Given the description of an element on the screen output the (x, y) to click on. 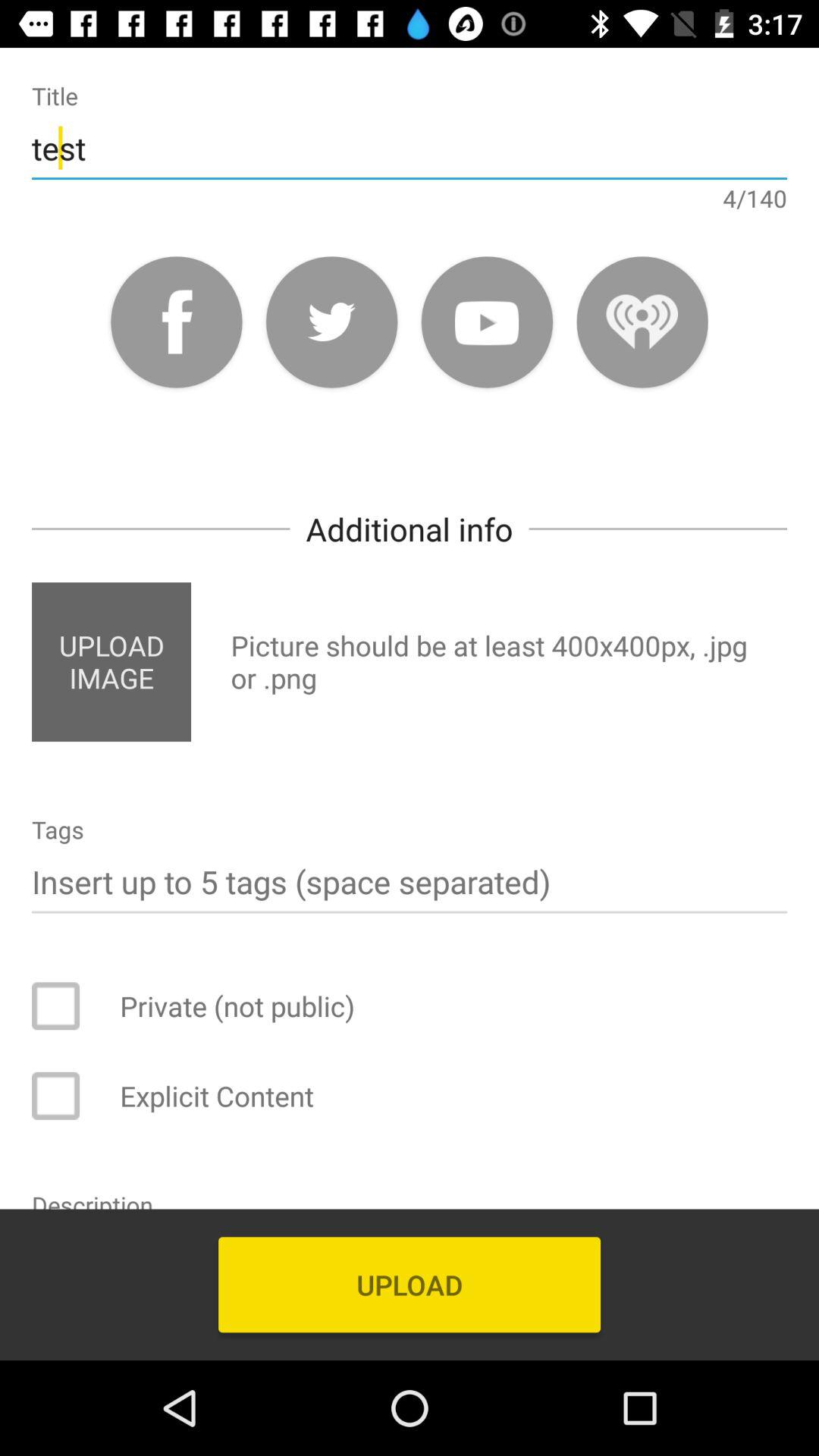
publish on facebook option (176, 321)
